Given the description of an element on the screen output the (x, y) to click on. 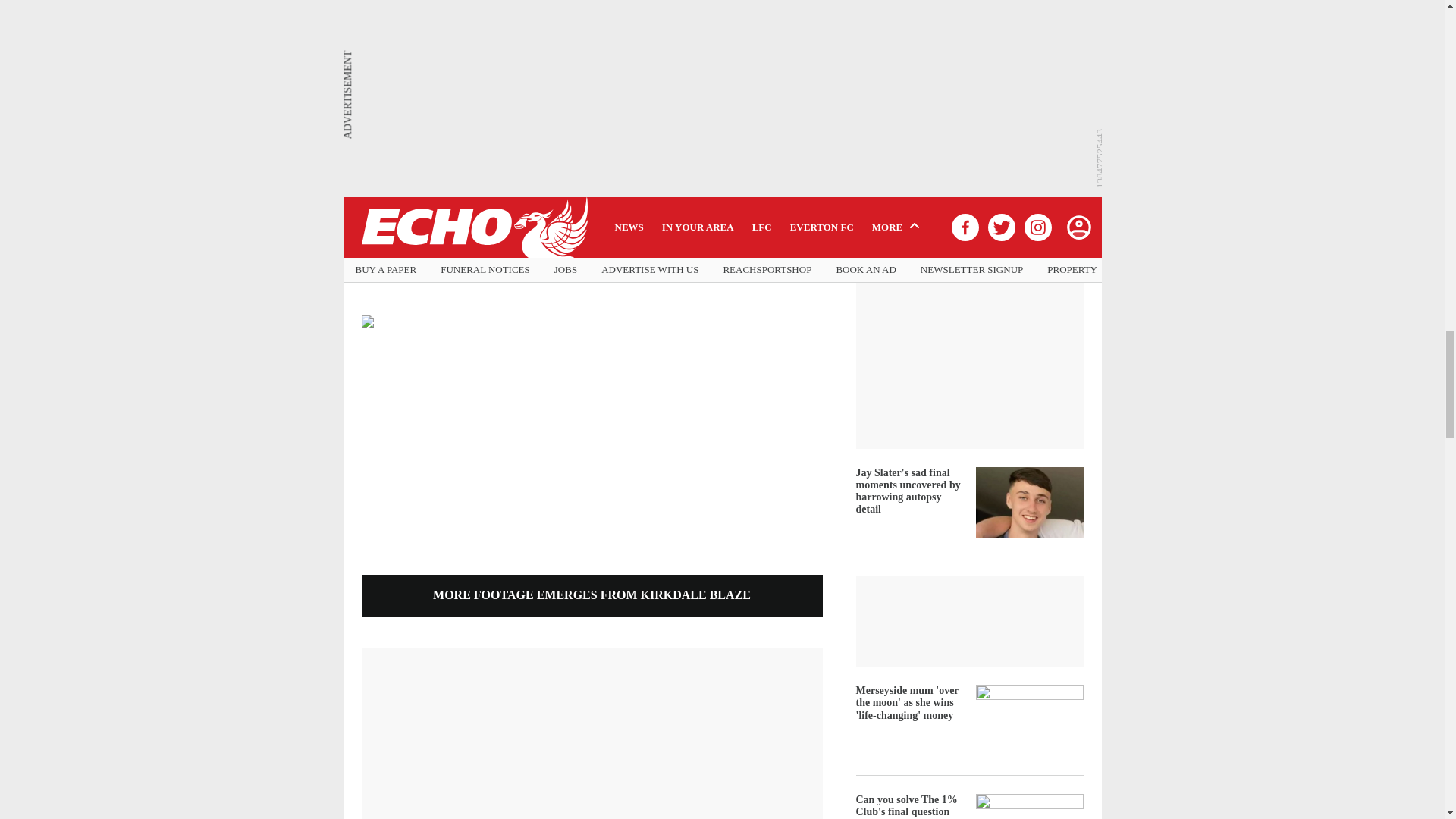
3rd party ad content (590, 168)
